Given the description of an element on the screen output the (x, y) to click on. 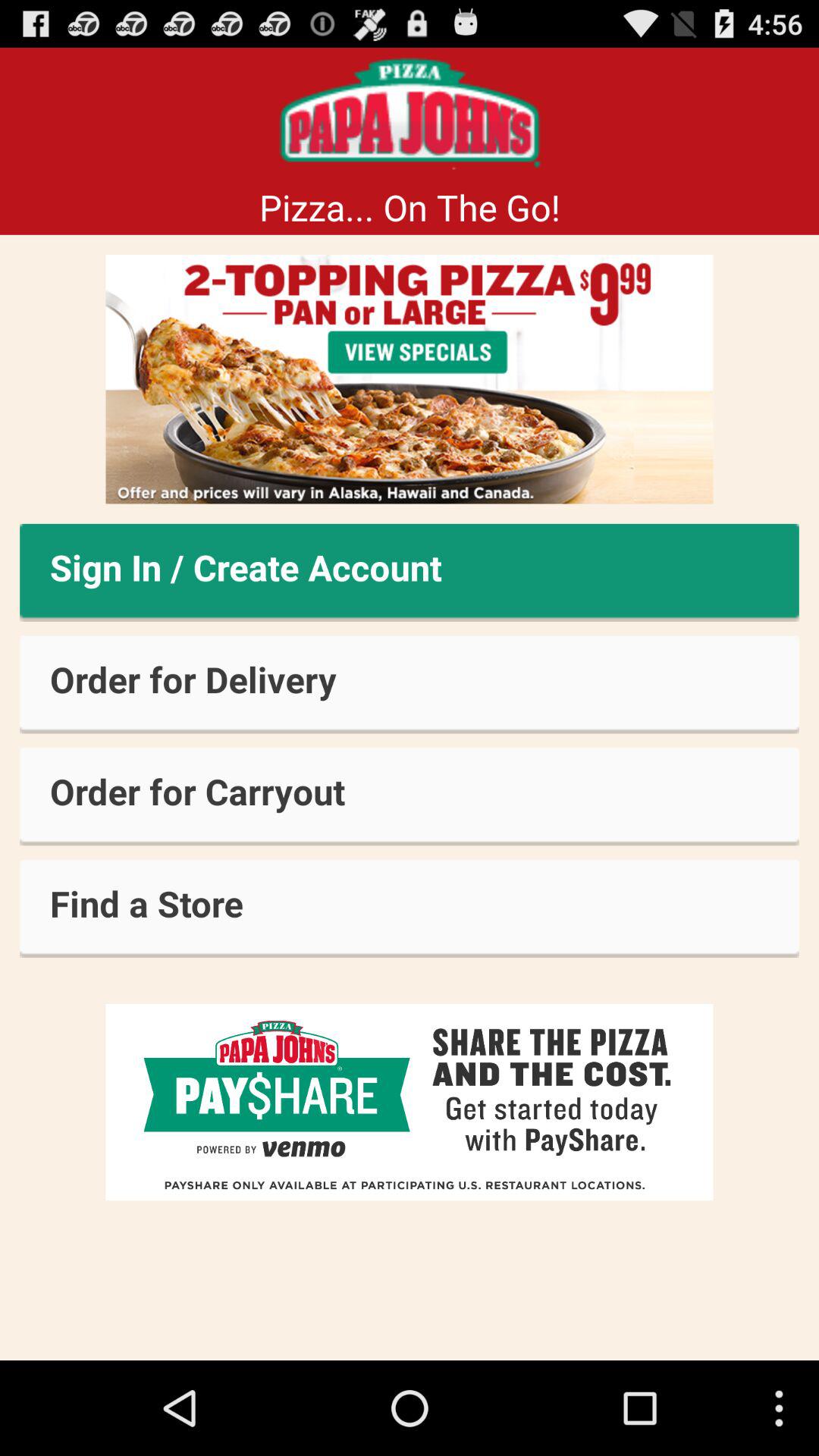
click to view specials (409, 378)
